Given the description of an element on the screen output the (x, y) to click on. 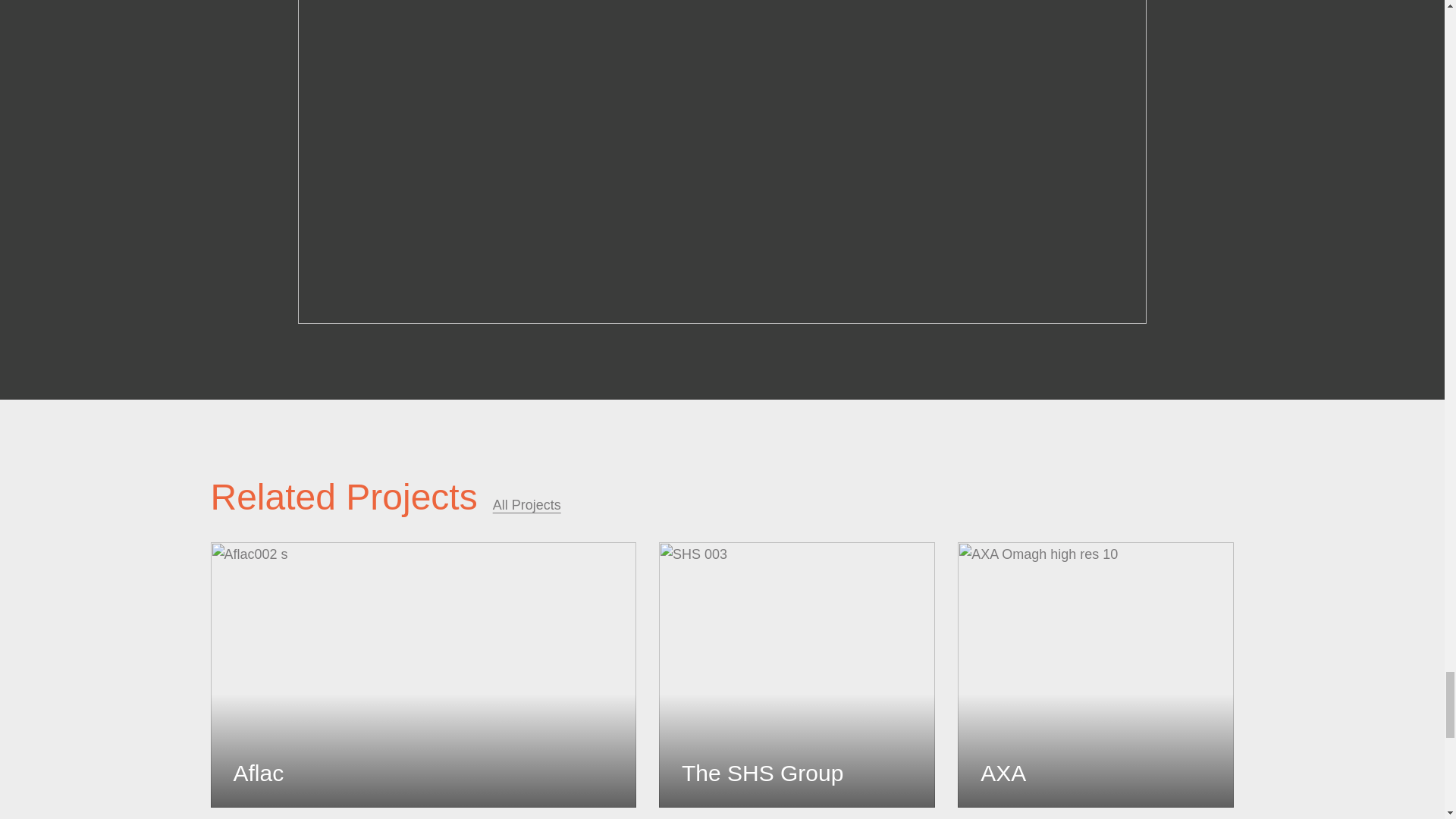
Aflac (423, 674)
All Projects (536, 505)
AXA (1095, 674)
The SHS Group (796, 674)
